Given the description of an element on the screen output the (x, y) to click on. 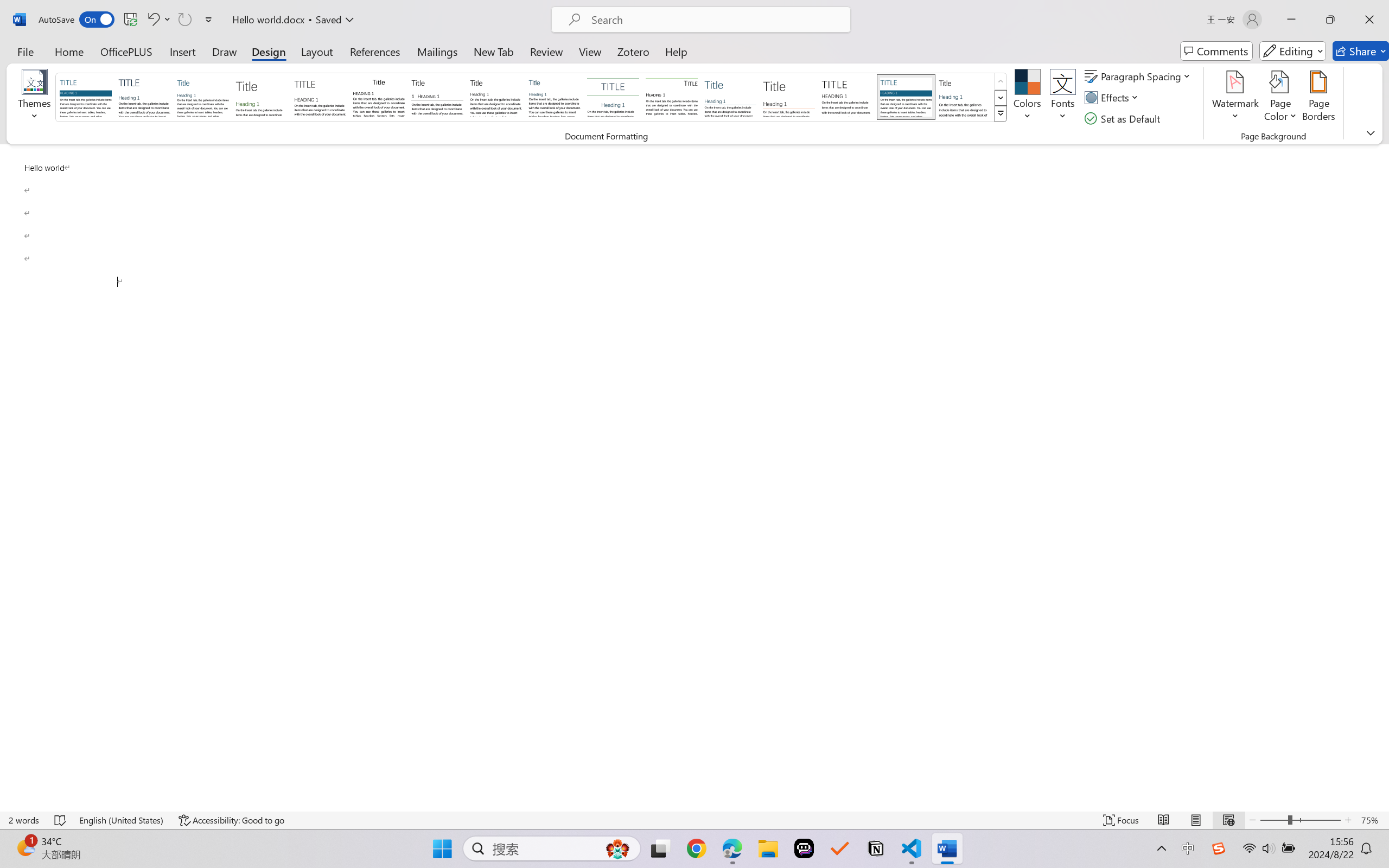
Shaded (905, 96)
Effects (1113, 97)
Home (69, 51)
Design (268, 51)
Black & White (Classic) (379, 96)
Row up (1000, 81)
Minimalist (847, 96)
